Given the description of an element on the screen output the (x, y) to click on. 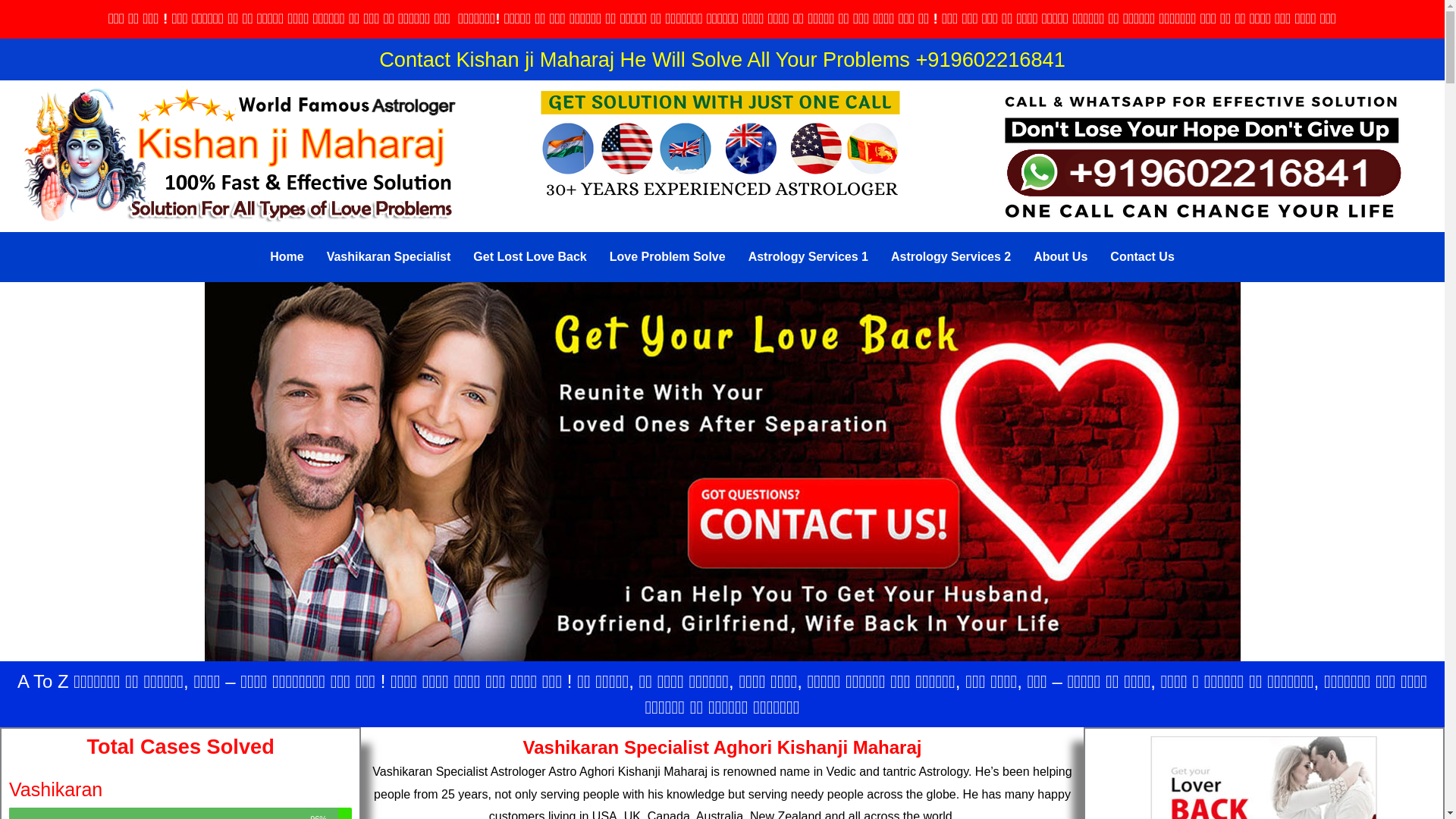
Home (286, 256)
Astrology Services 2 (950, 256)
Astrology Services 1 (807, 256)
About Us (1060, 256)
Get Lost Love Back (528, 256)
Love Problem Solve (667, 256)
Vashikaran Specialist (389, 256)
Contact Us (1142, 256)
